Given the description of an element on the screen output the (x, y) to click on. 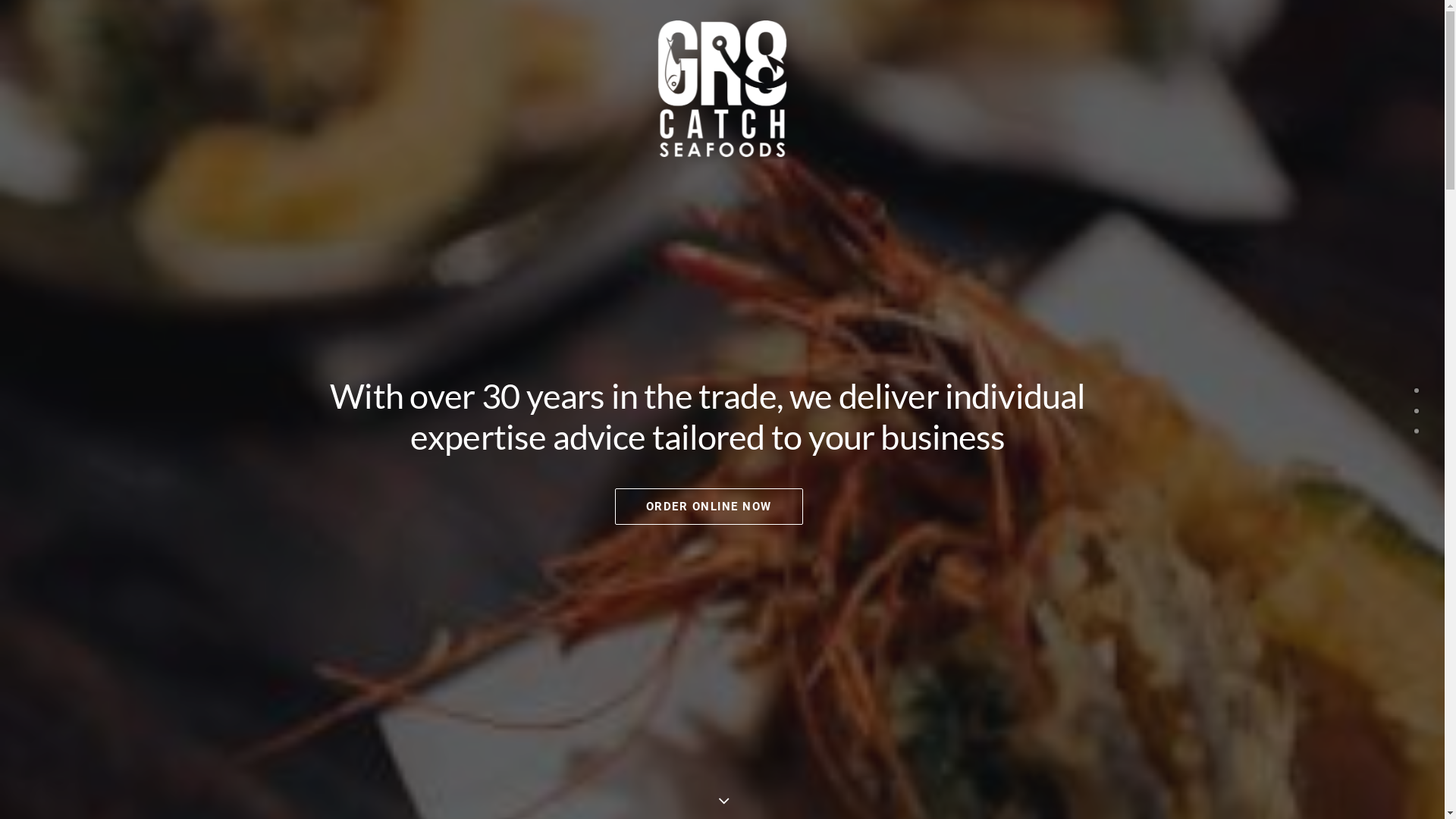
ORDER ONLINE NOW Element type: text (708, 506)
